Given the description of an element on the screen output the (x, y) to click on. 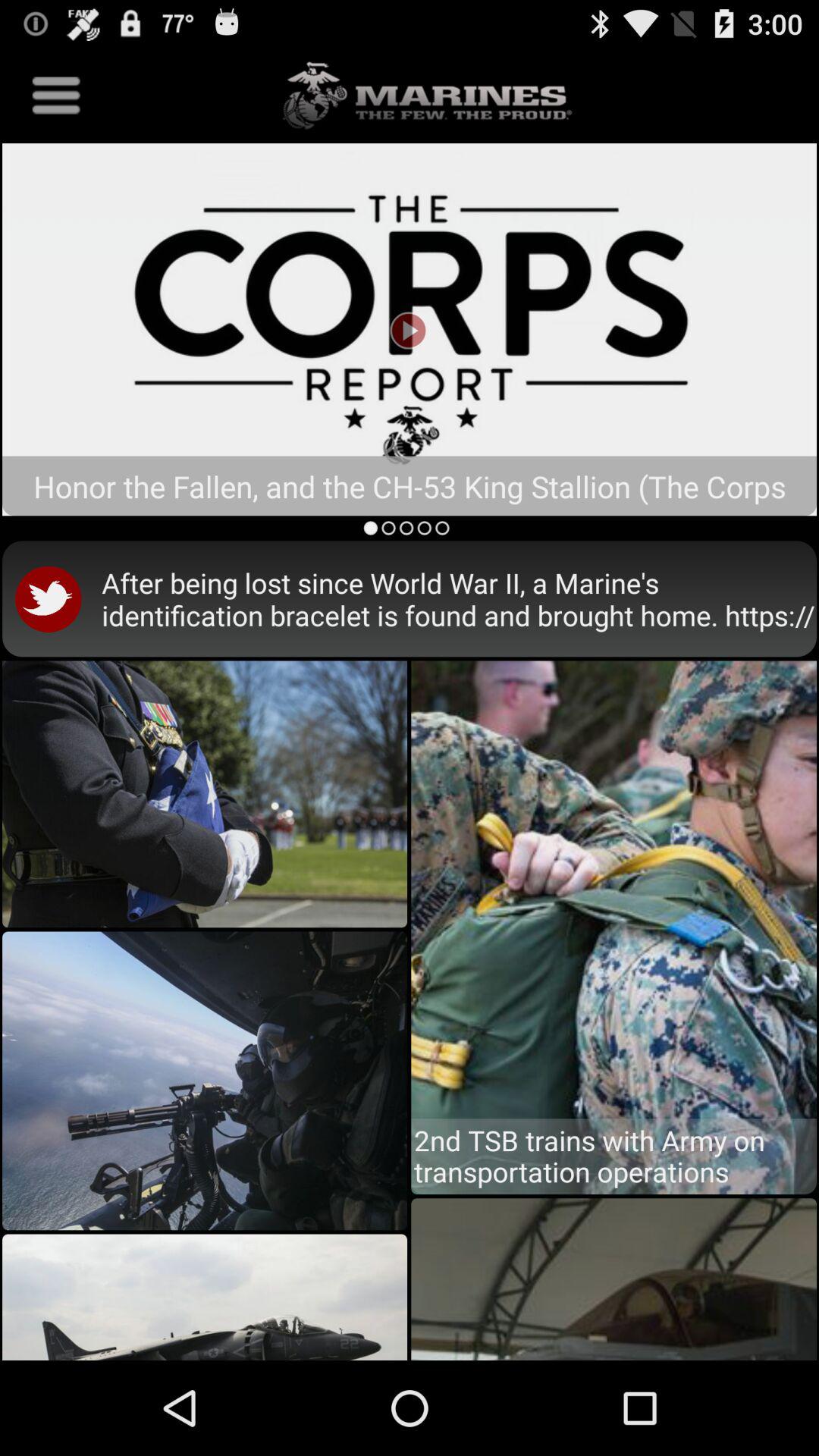
the crops report (409, 329)
